Given the description of an element on the screen output the (x, y) to click on. 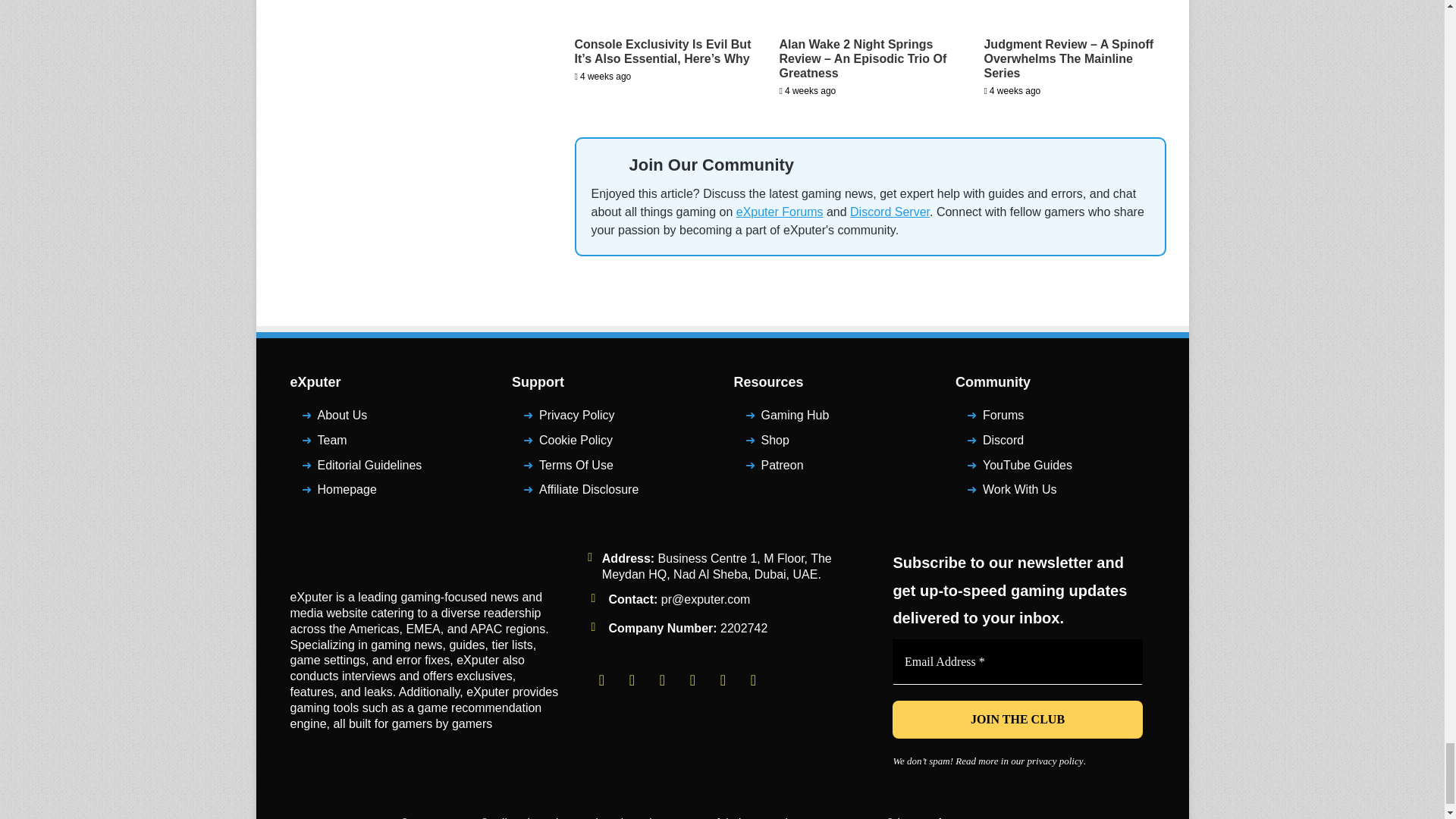
Email Address (1017, 661)
JOIN THE  CLUB (1017, 719)
